Given the description of an element on the screen output the (x, y) to click on. 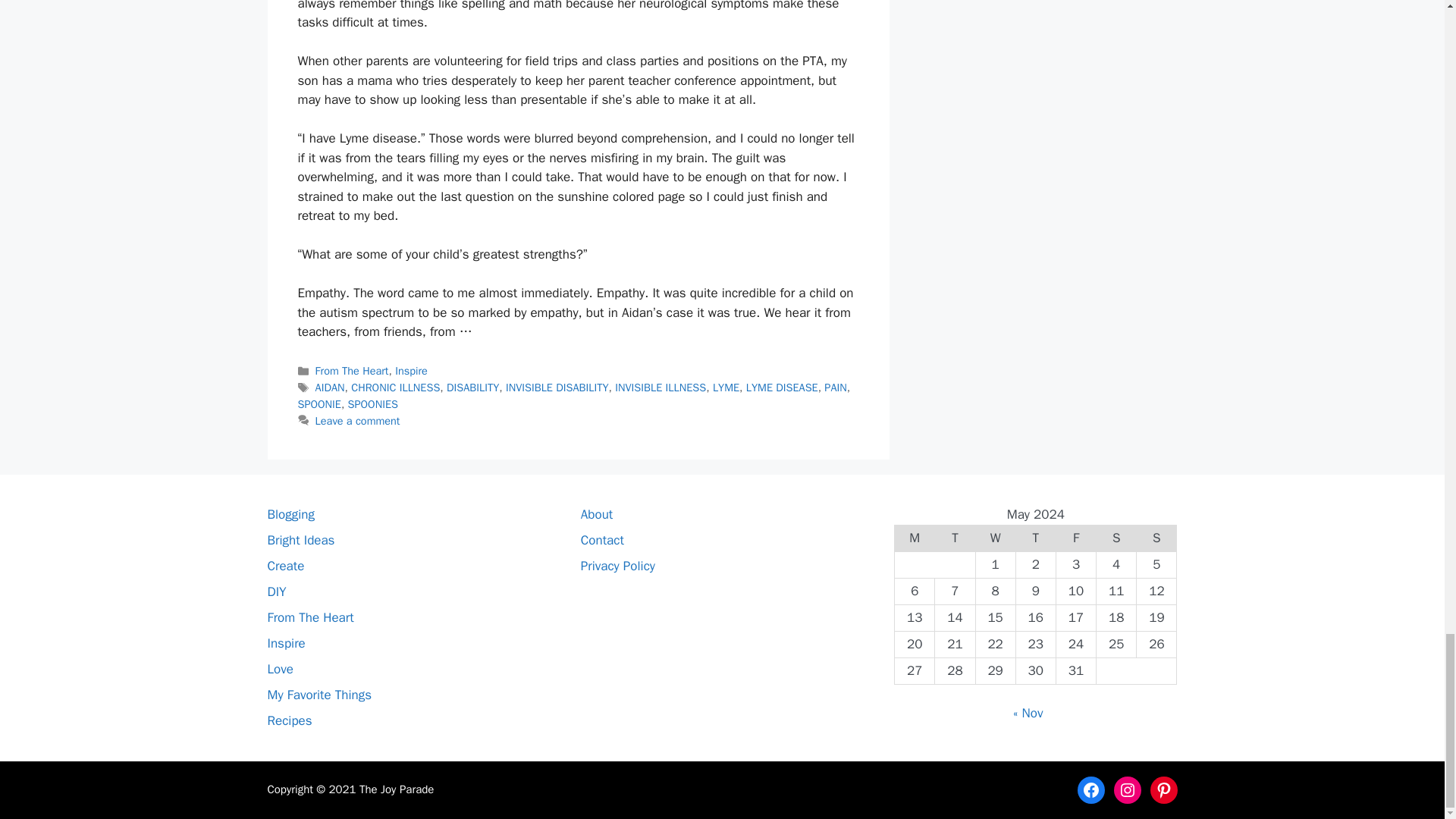
Inspire (411, 370)
Tuesday (954, 537)
Thursday (1034, 537)
DISABILITY (472, 386)
AIDAN (330, 386)
Wednesday (994, 537)
From The Heart (351, 370)
CHRONIC ILLNESS (394, 386)
Monday (914, 537)
Friday (1075, 537)
